Given the description of an element on the screen output the (x, y) to click on. 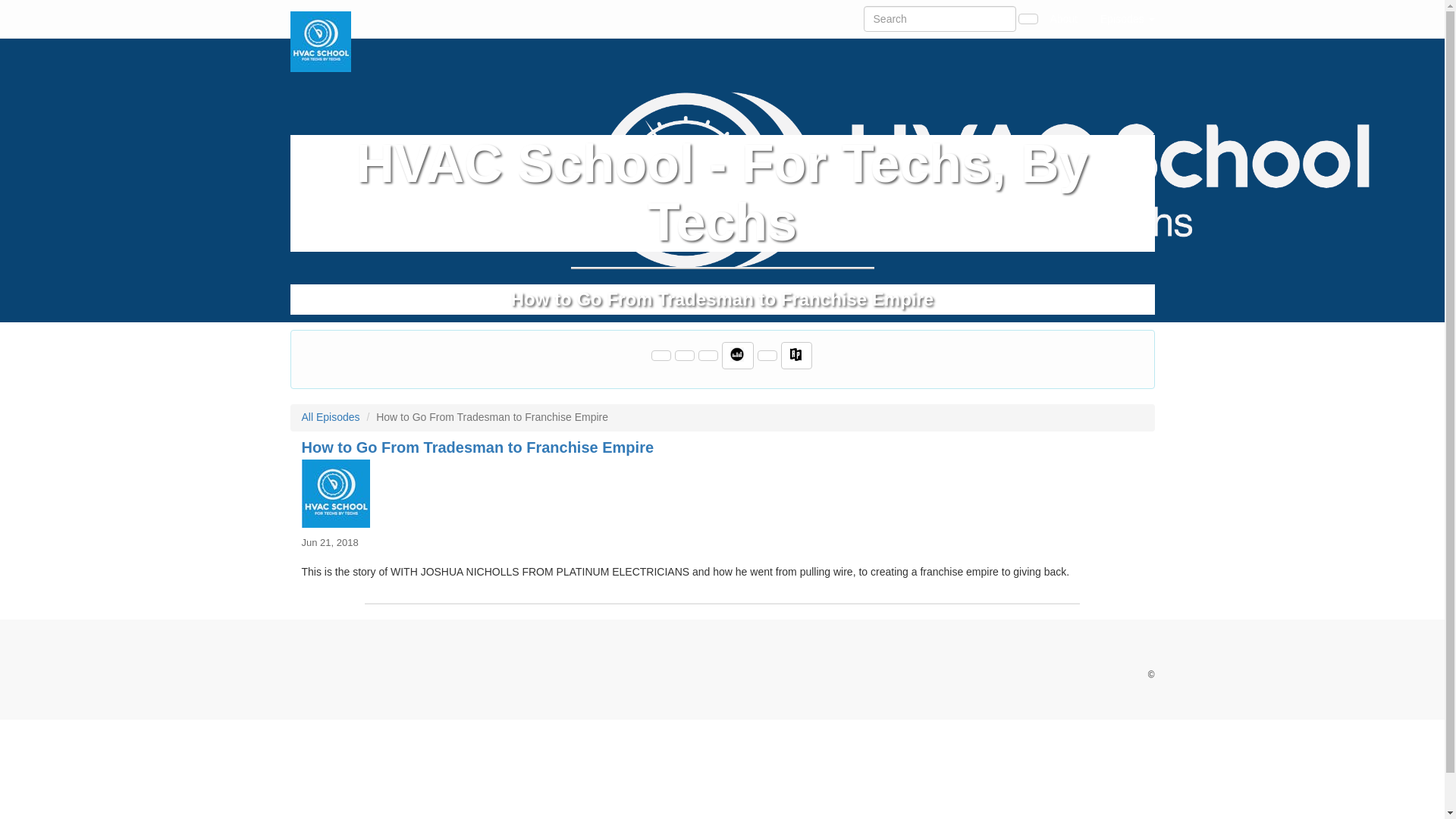
Episodes (1127, 18)
About (1063, 18)
How to Go From Tradesman to Franchise Empire (721, 493)
Home Page (320, 18)
